Given the description of an element on the screen output the (x, y) to click on. 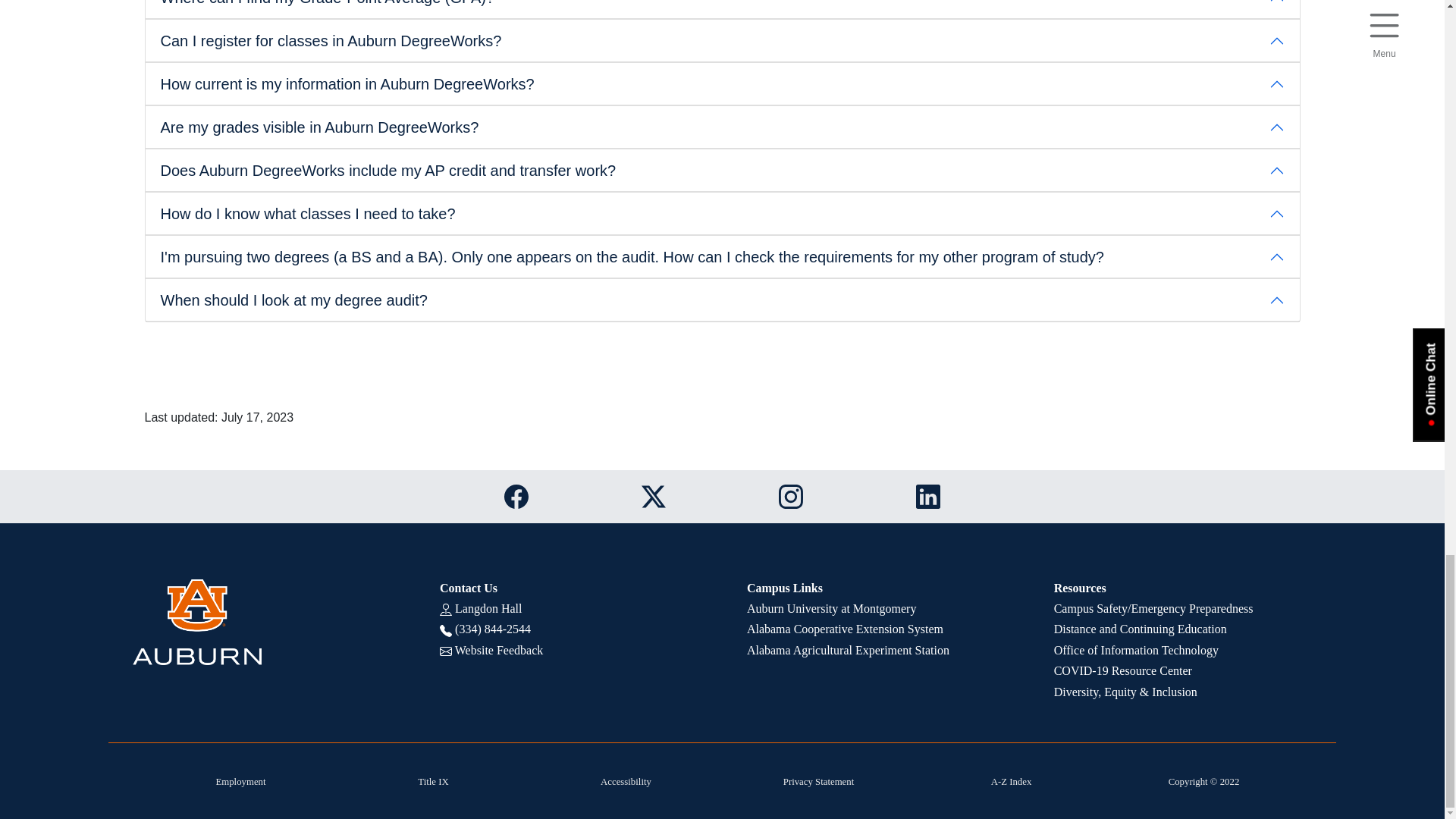
Twitter logo (653, 496)
Telephone icon (445, 630)
Facebook logo (515, 496)
Map icon (445, 609)
Instagram logo (790, 496)
LinkedIn logo (927, 496)
Envelope Icon (445, 651)
